Given the description of an element on the screen output the (x, y) to click on. 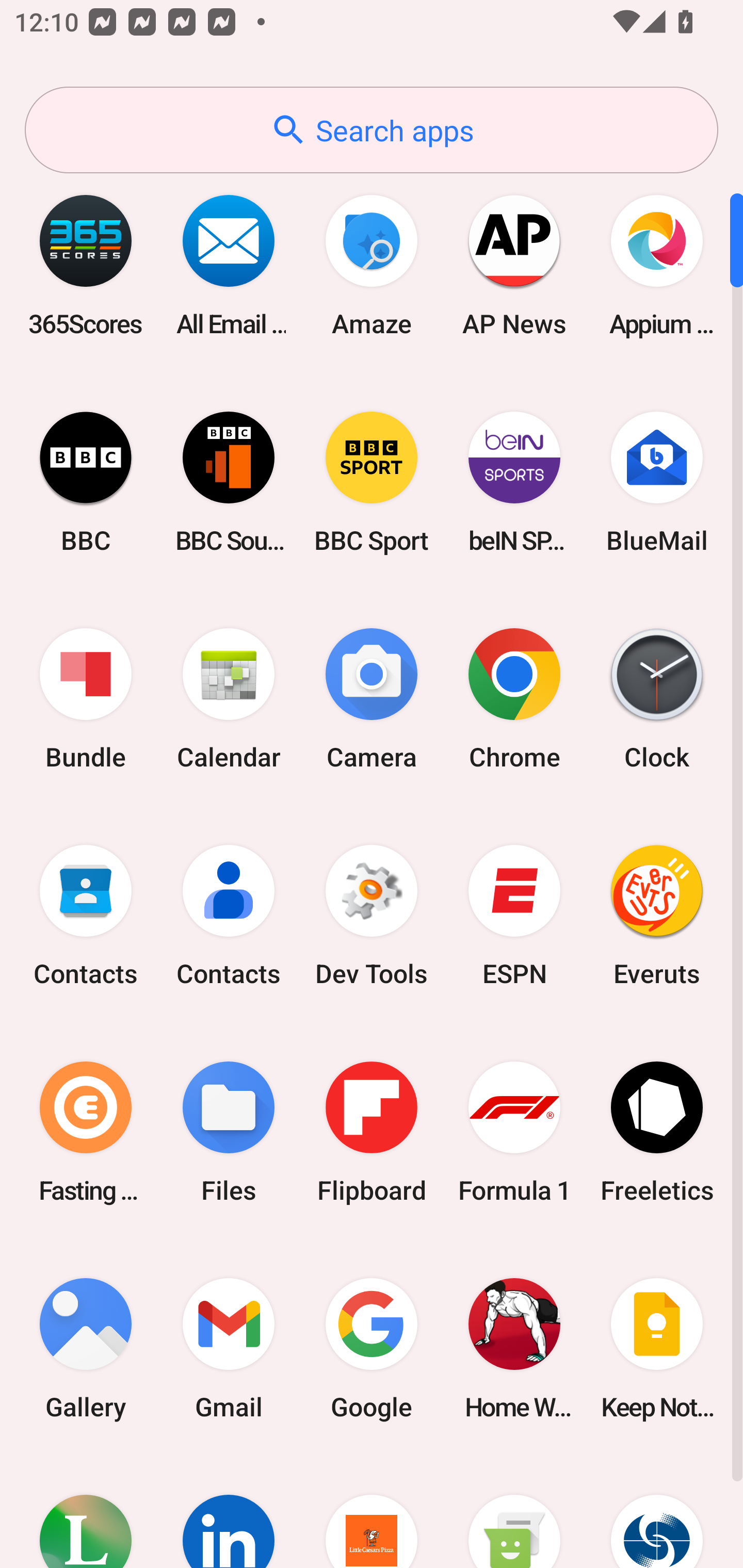
  Search apps (371, 130)
365Scores (85, 264)
All Email Connect (228, 264)
Amaze (371, 264)
AP News (514, 264)
Appium Settings (656, 264)
BBC (85, 482)
BBC Sounds (228, 482)
BBC Sport (371, 482)
beIN SPORTS (514, 482)
BlueMail (656, 482)
Bundle (85, 699)
Calendar (228, 699)
Camera (371, 699)
Chrome (514, 699)
Clock (656, 699)
Contacts (85, 915)
Contacts (228, 915)
Dev Tools (371, 915)
ESPN (514, 915)
Everuts (656, 915)
Fasting Coach (85, 1131)
Files (228, 1131)
Flipboard (371, 1131)
Formula 1 (514, 1131)
Freeletics (656, 1131)
Gallery (85, 1348)
Gmail (228, 1348)
Google (371, 1348)
Home Workout (514, 1348)
Keep Notes (656, 1348)
Lifesum (85, 1512)
LinkedIn (228, 1512)
Little Caesars Pizza (371, 1512)
Messaging (514, 1512)
MyObservatory (656, 1512)
